Given the description of an element on the screen output the (x, y) to click on. 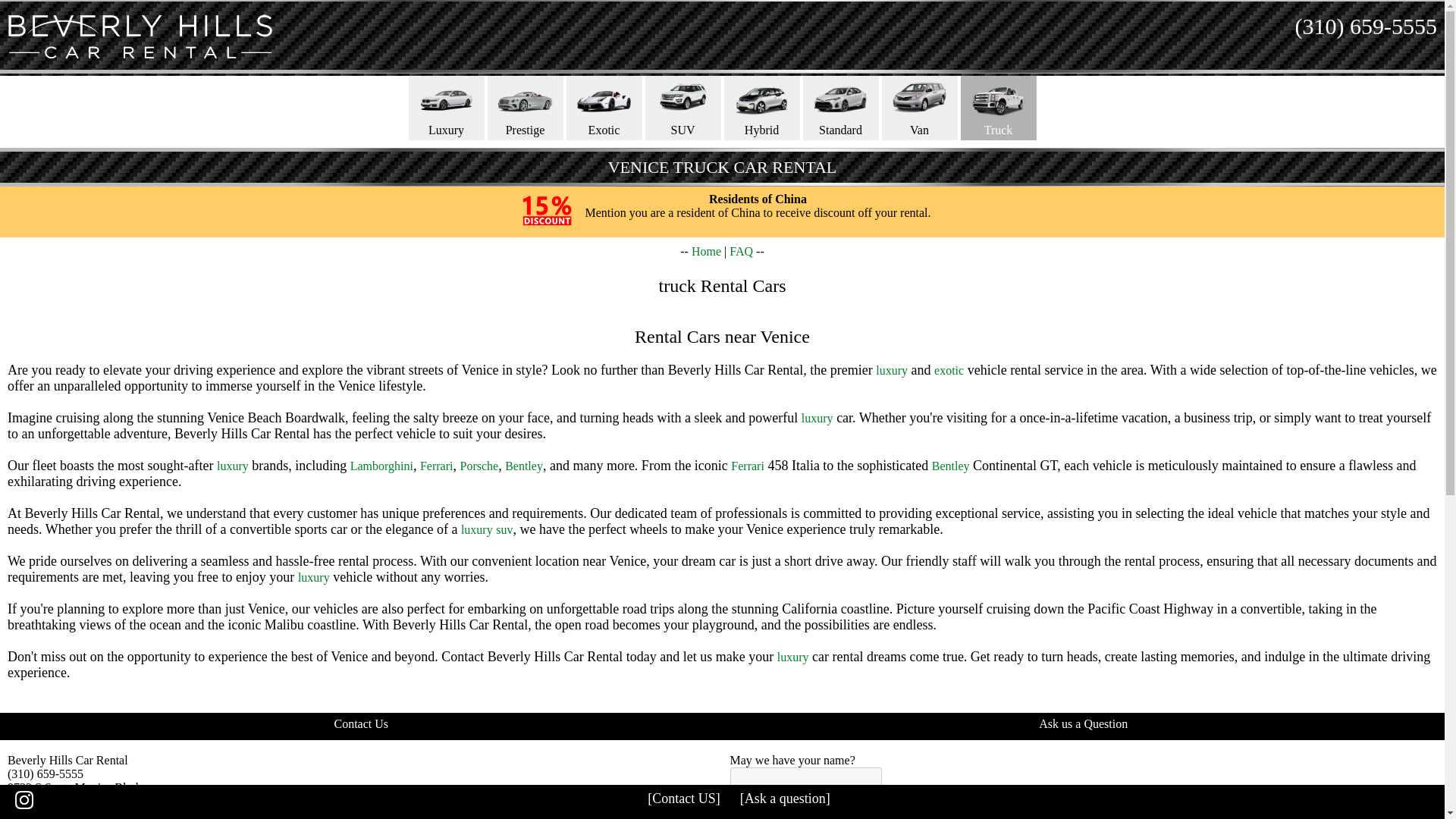
Ask us a Question (1082, 723)
Bentley rental car hire (524, 465)
Ferrari rental car hire (436, 465)
luxury rental car hire (232, 465)
luxury (793, 656)
luxury (232, 465)
luxury rental car hire (891, 369)
luxury rental car hire (314, 576)
luxury rental car hire (793, 656)
luxury (817, 418)
